Given the description of an element on the screen output the (x, y) to click on. 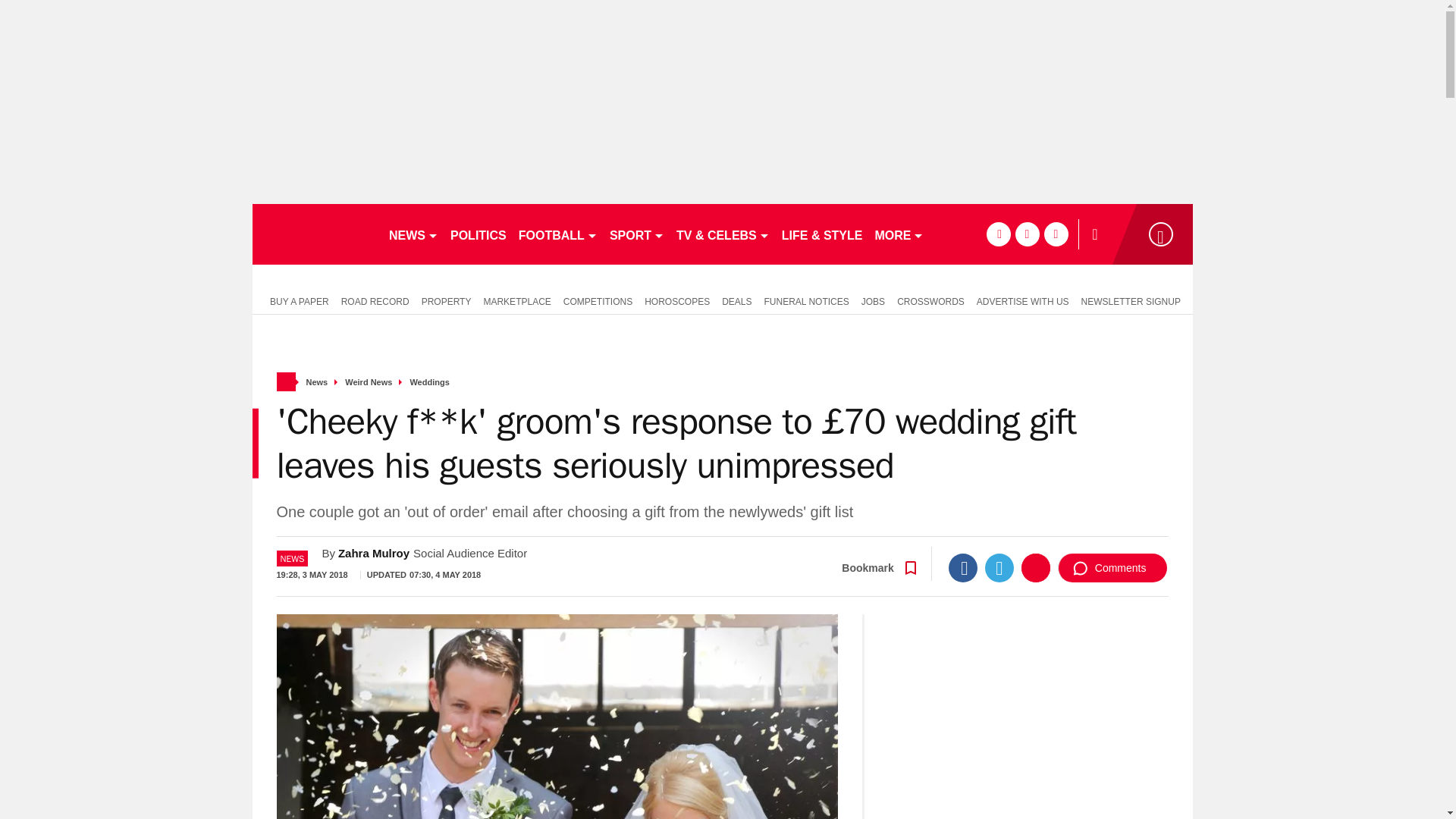
facebook (997, 233)
instagram (1055, 233)
Facebook (962, 567)
Comments (1112, 567)
SPORT (636, 233)
dailyrecord (313, 233)
Twitter (999, 567)
twitter (1026, 233)
FOOTBALL (558, 233)
NEWS (413, 233)
